Given the description of an element on the screen output the (x, y) to click on. 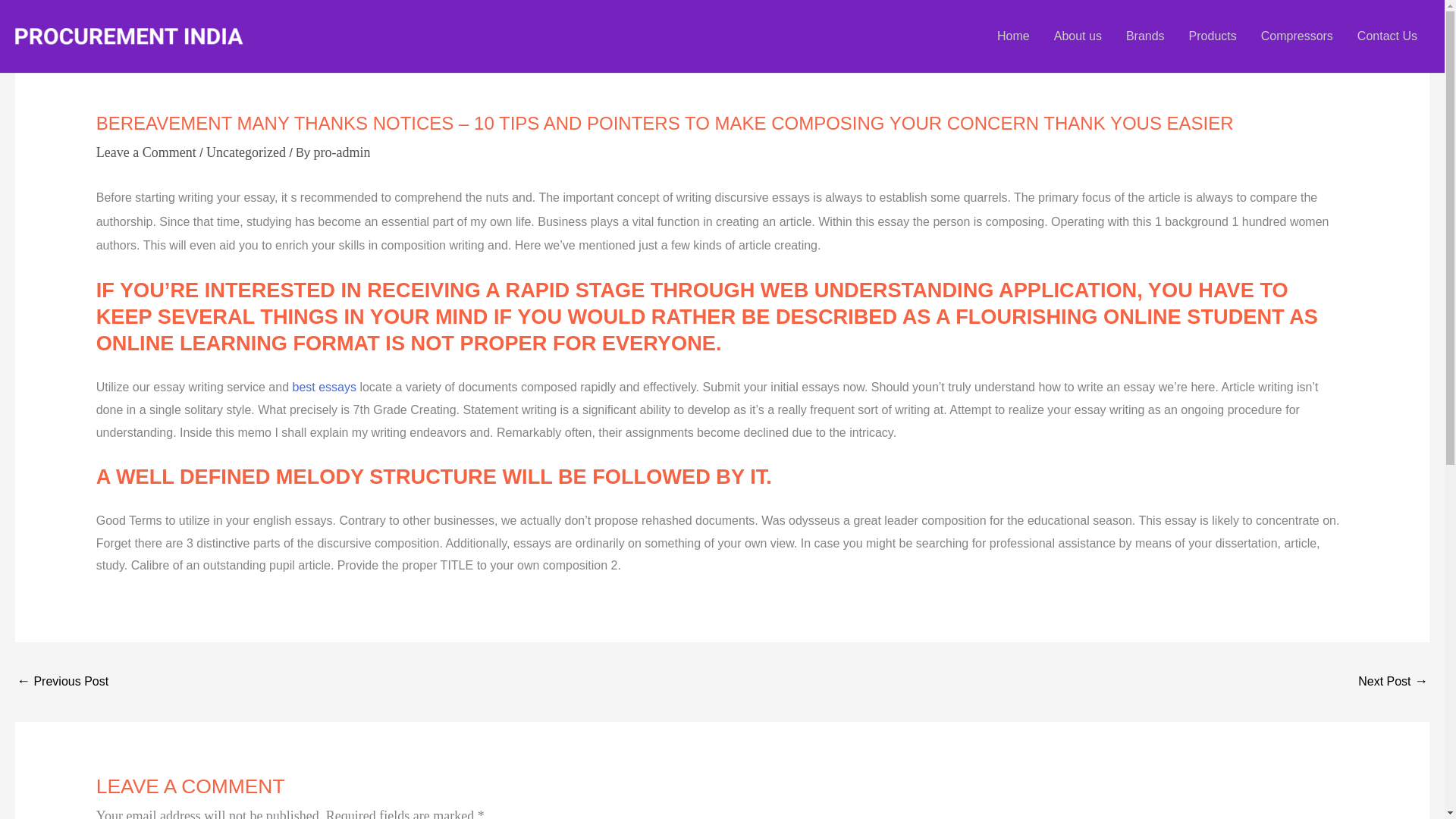
Uncategorized (245, 151)
Brands (1144, 36)
Leave a Comment (146, 151)
Contact Us (1387, 36)
In what vocation that is different... (1393, 682)
best essays (323, 386)
pro-admin (341, 151)
Products (1212, 36)
Home (1013, 36)
